Given the description of an element on the screen output the (x, y) to click on. 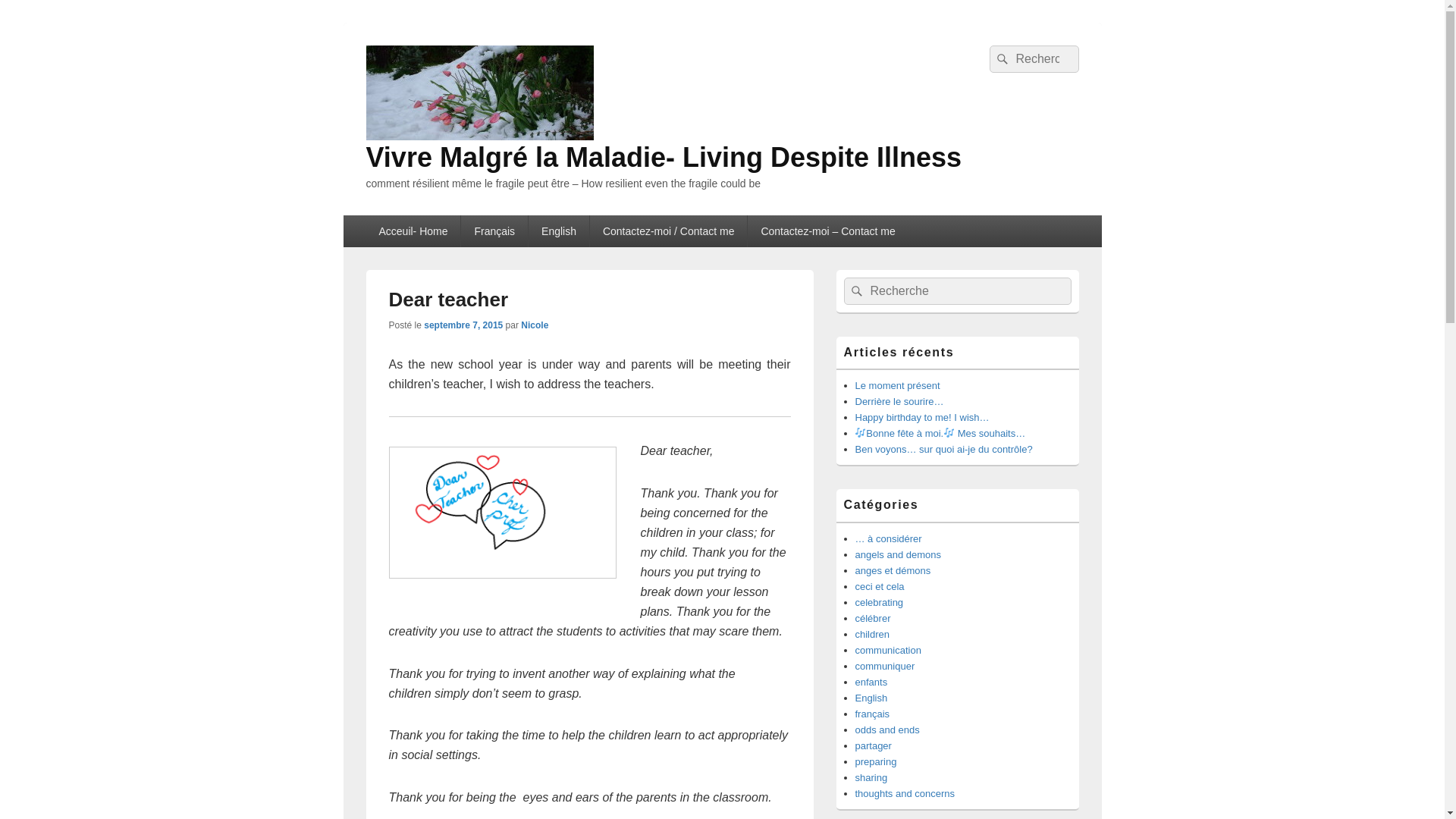
Acceuil- Home (412, 231)
Nicole (534, 325)
7:00 am (462, 325)
Voir tous les articles par Nicole (534, 325)
septembre 7, 2015 (462, 325)
English (558, 231)
